Given the description of an element on the screen output the (x, y) to click on. 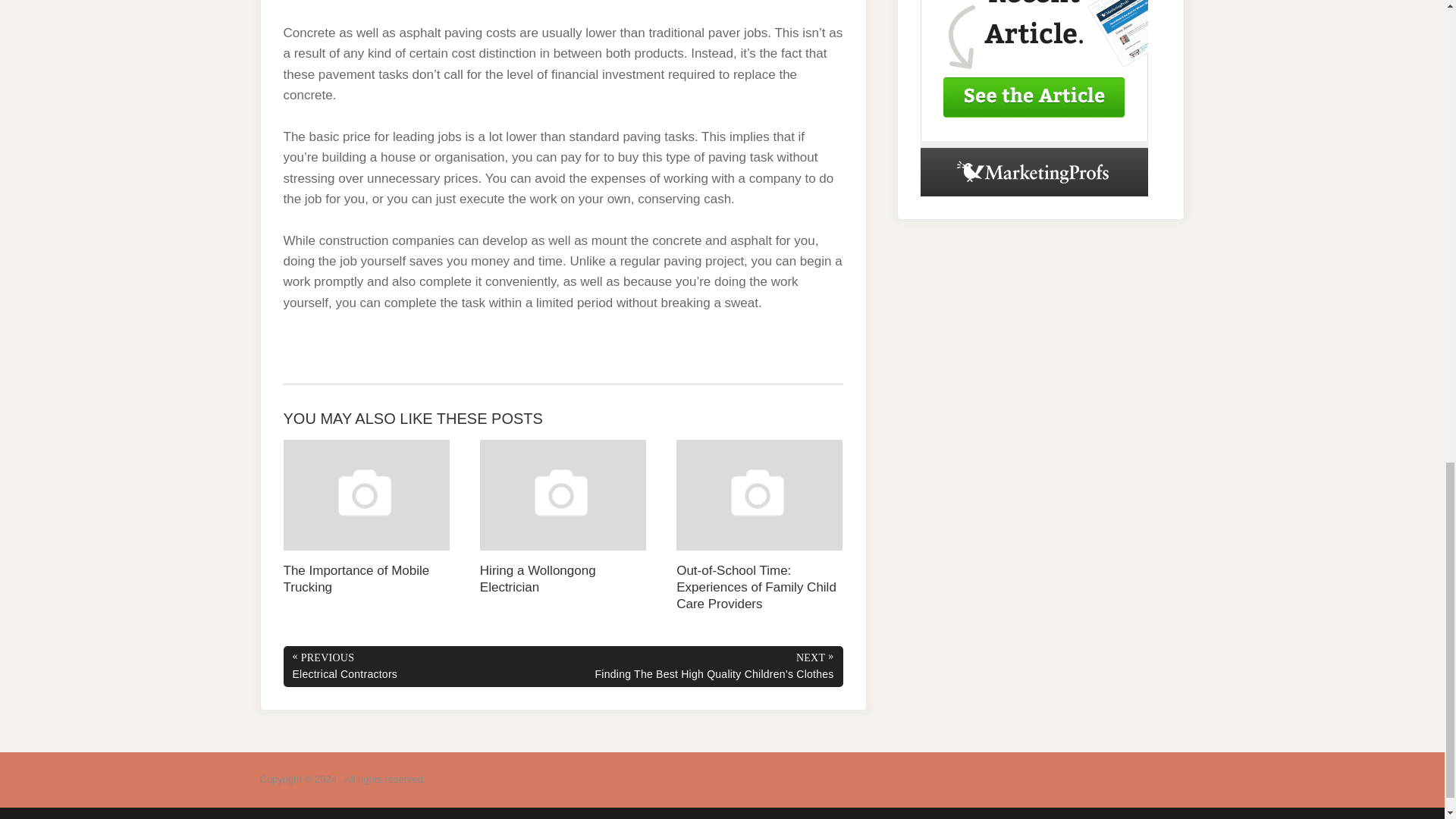
Hiring a Wollongong Electrician (563, 517)
The Importance of Mobile Trucking (366, 517)
Sponsored Ad (1034, 98)
The Importance of Mobile Trucking (366, 517)
Hiring a Wollongong Electrician (563, 517)
